Given the description of an element on the screen output the (x, y) to click on. 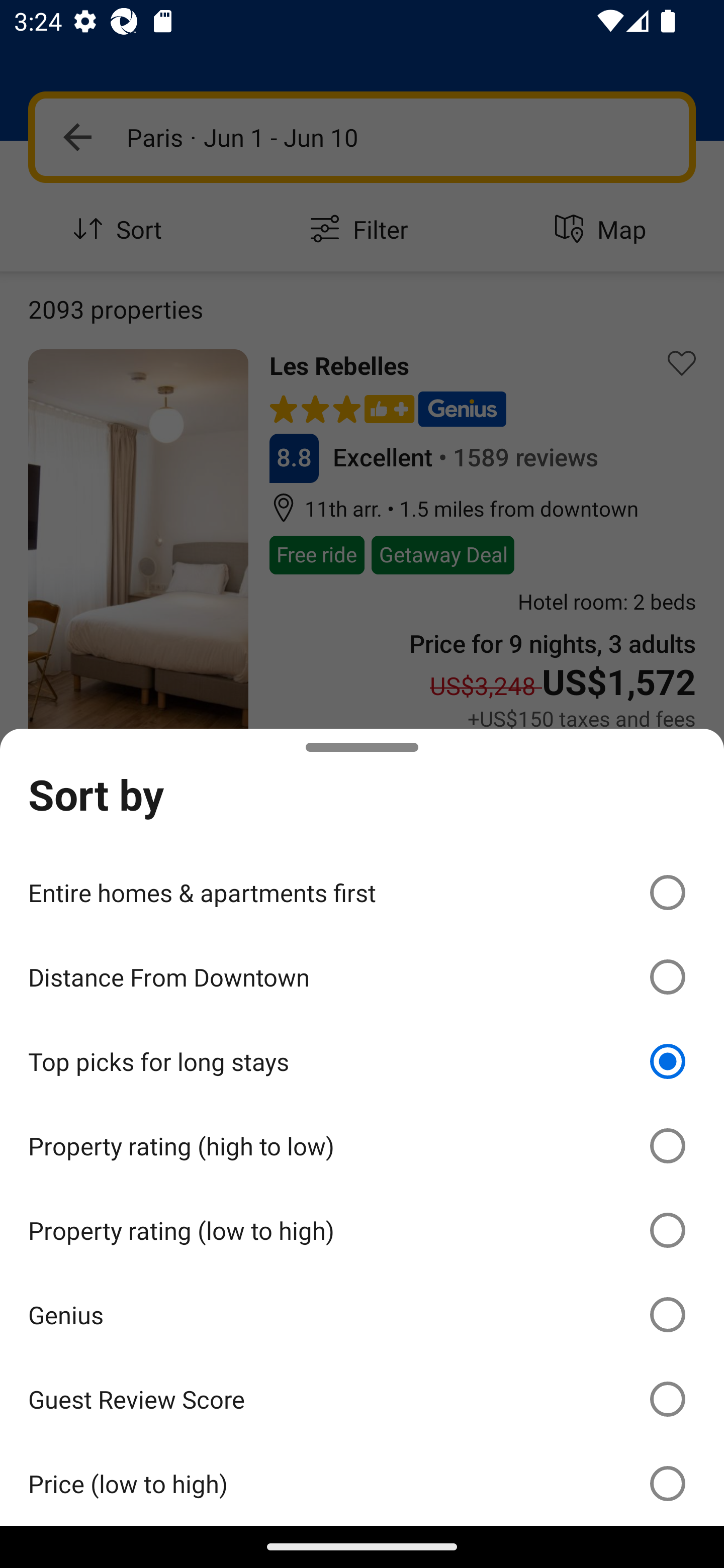
Entire homes & apartments first (362, 891)
Distance From Downtown (362, 976)
Top picks for long stays (362, 1061)
Property rating (high to low) (362, 1145)
Property rating (low to high) (362, 1230)
Genius (362, 1314)
Guest Review Score (362, 1398)
Price (low to high) (362, 1482)
